Given the description of an element on the screen output the (x, y) to click on. 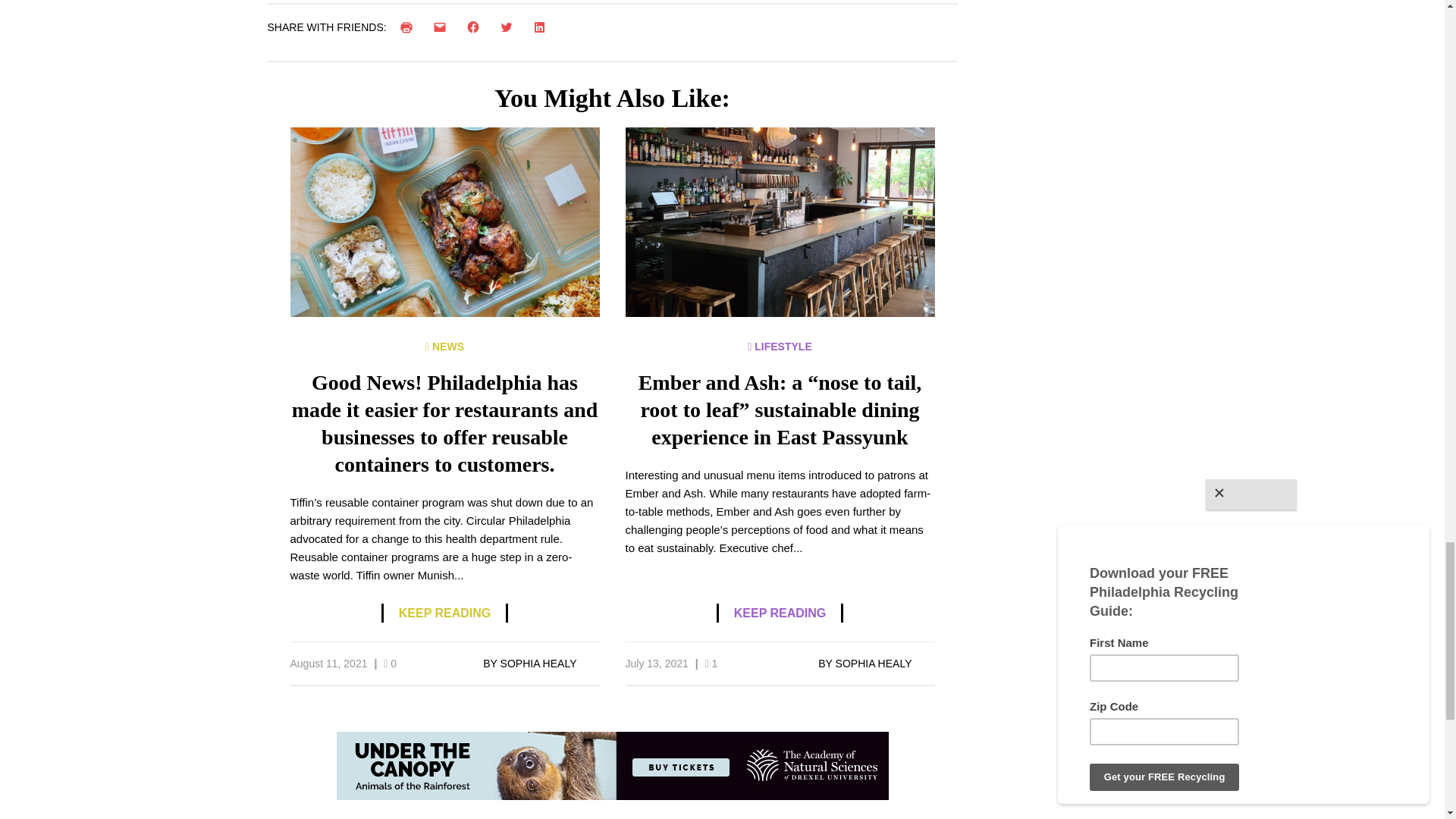
Click to email a link to a friend (443, 26)
Click to print (409, 26)
Click to share on Facebook (476, 26)
Click to share on Twitter (509, 26)
